Given the description of an element on the screen output the (x, y) to click on. 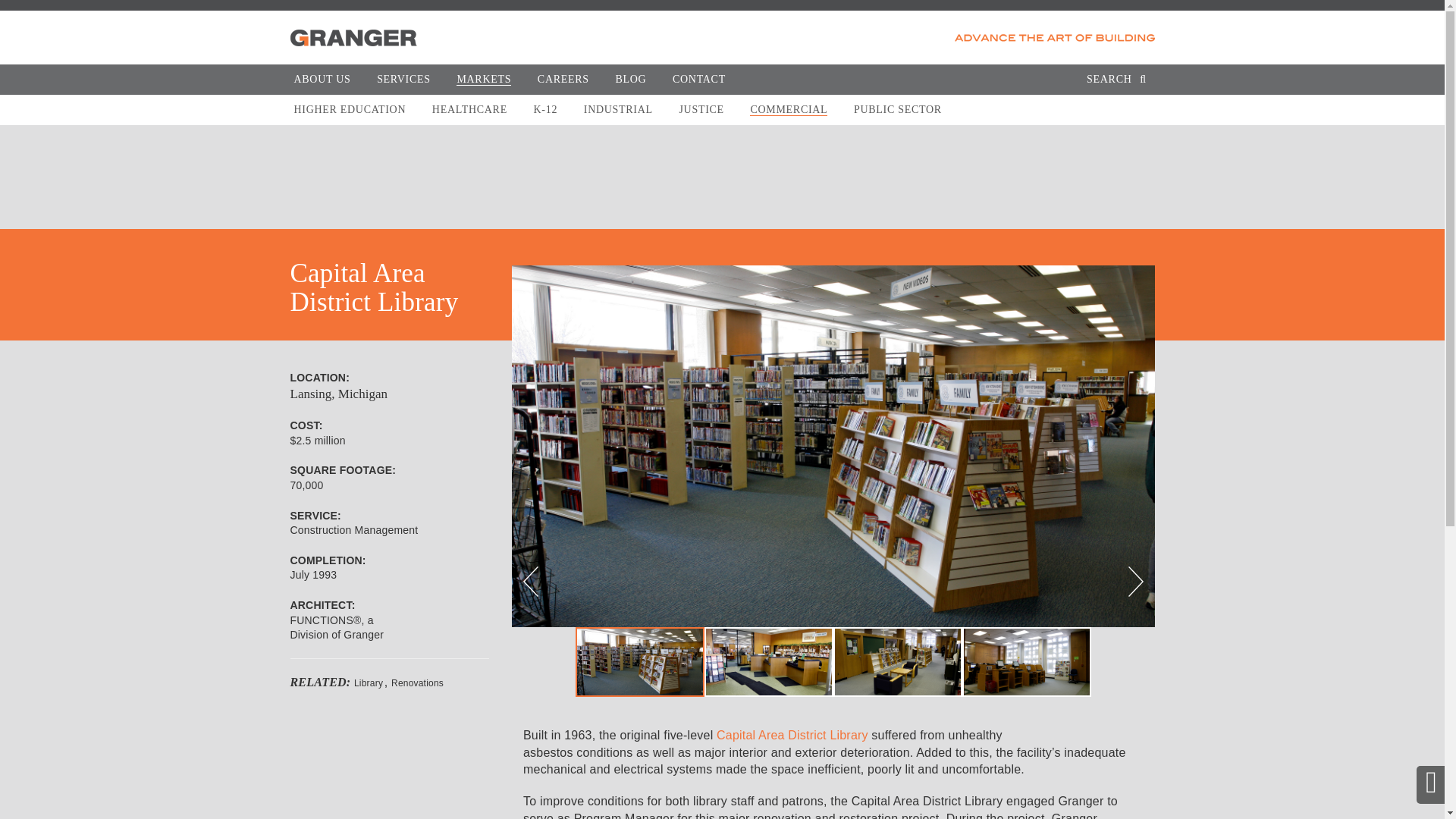
ABOUT US (322, 79)
